Given the description of an element on the screen output the (x, y) to click on. 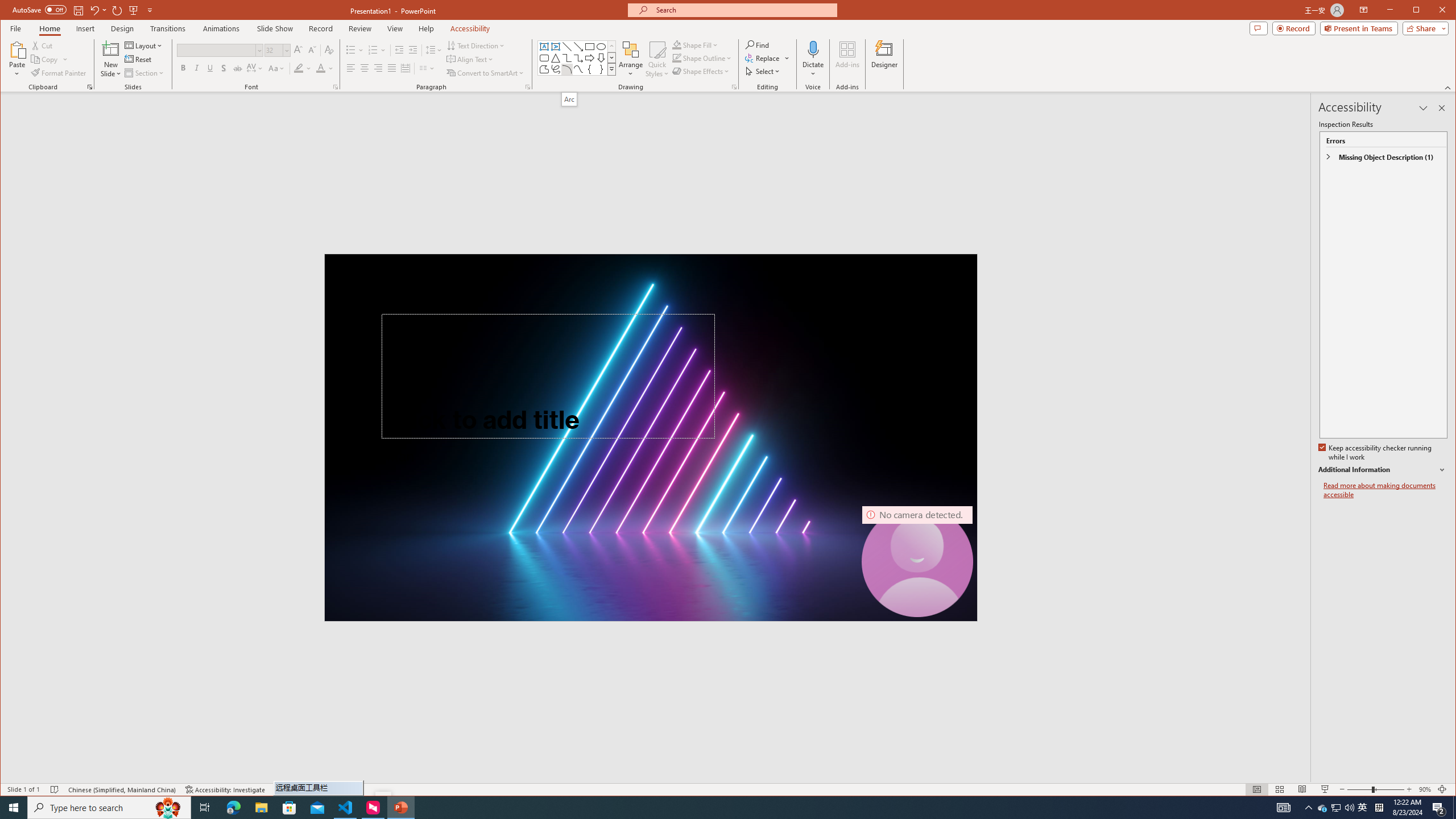
Zoom 90% (1424, 789)
